Given the description of an element on the screen output the (x, y) to click on. 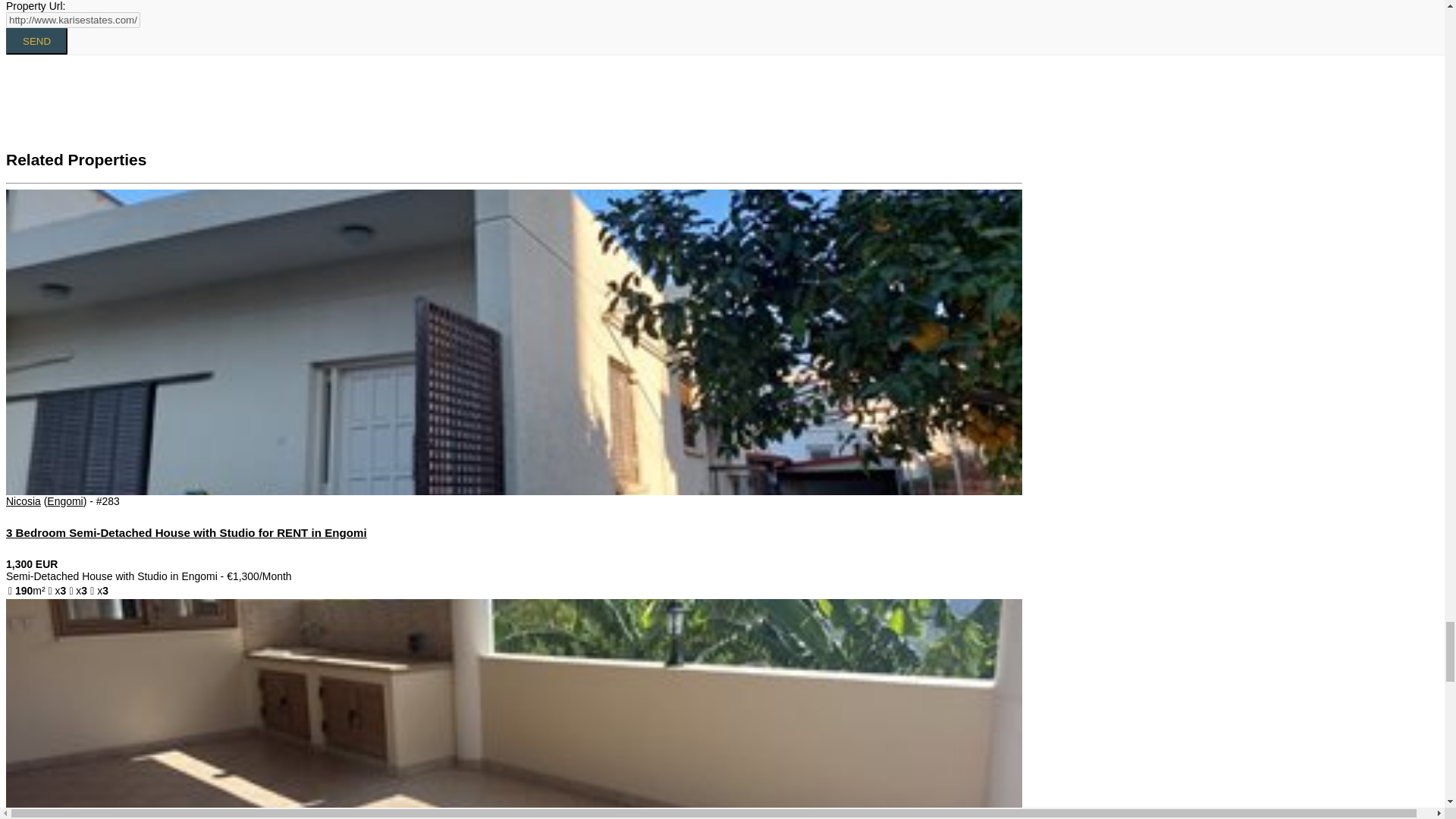
SEND (35, 40)
3 Bedroom Semi-Detached House with Studio for RENT in Engomi (185, 532)
Nicosia (22, 500)
Engomi (64, 500)
SEND (35, 40)
